Given the description of an element on the screen output the (x, y) to click on. 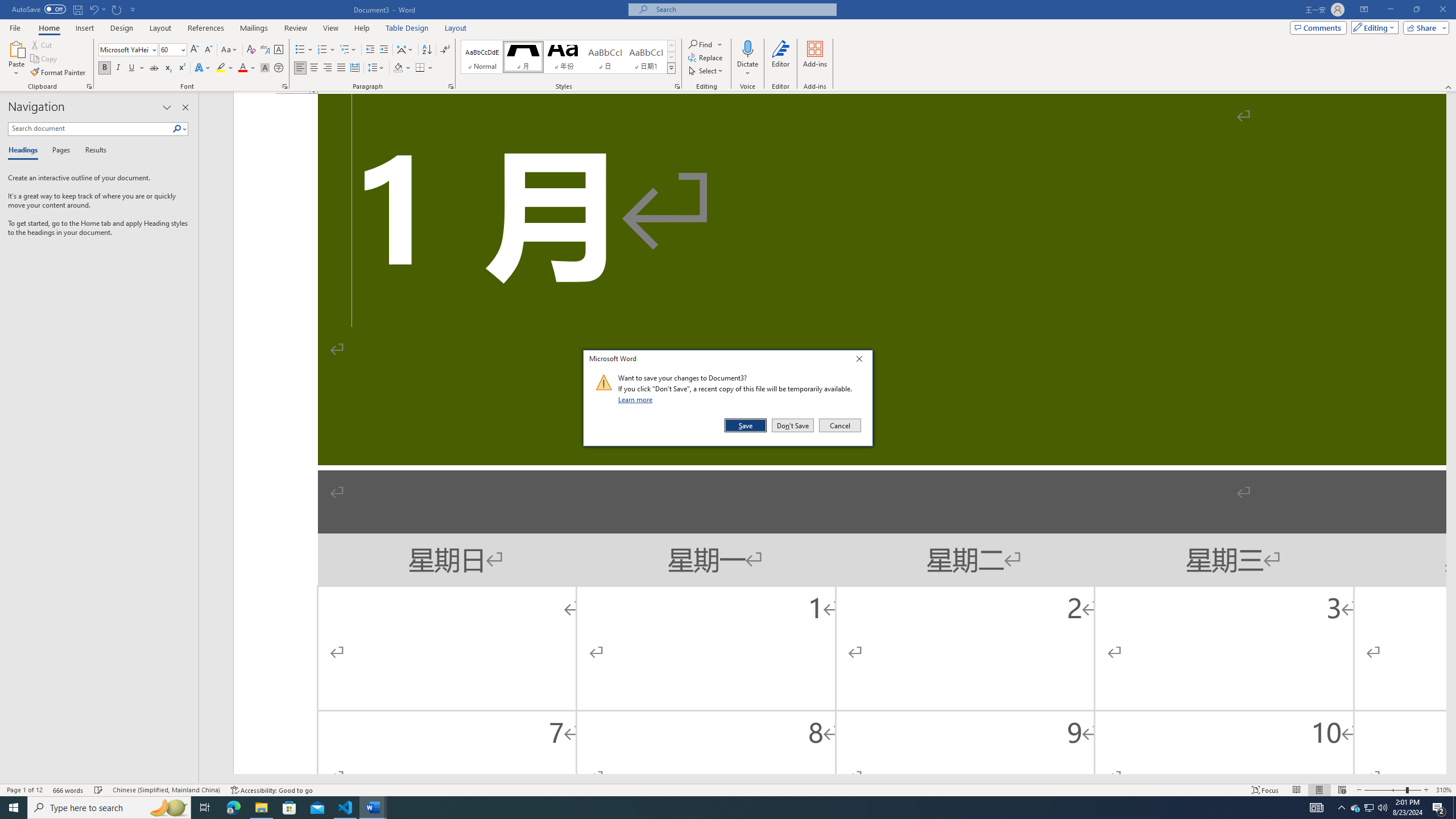
Character Shading (264, 67)
Center (313, 67)
Notification Chevron (1341, 807)
Class: MsoCommandBar (728, 789)
Language Chinese (Simplified, Mainland China) (165, 790)
Clear Formatting (250, 49)
Format Painter (58, 72)
User Promoted Notification Area (1368, 807)
Replace... (705, 56)
Change Case (229, 49)
